Given the description of an element on the screen output the (x, y) to click on. 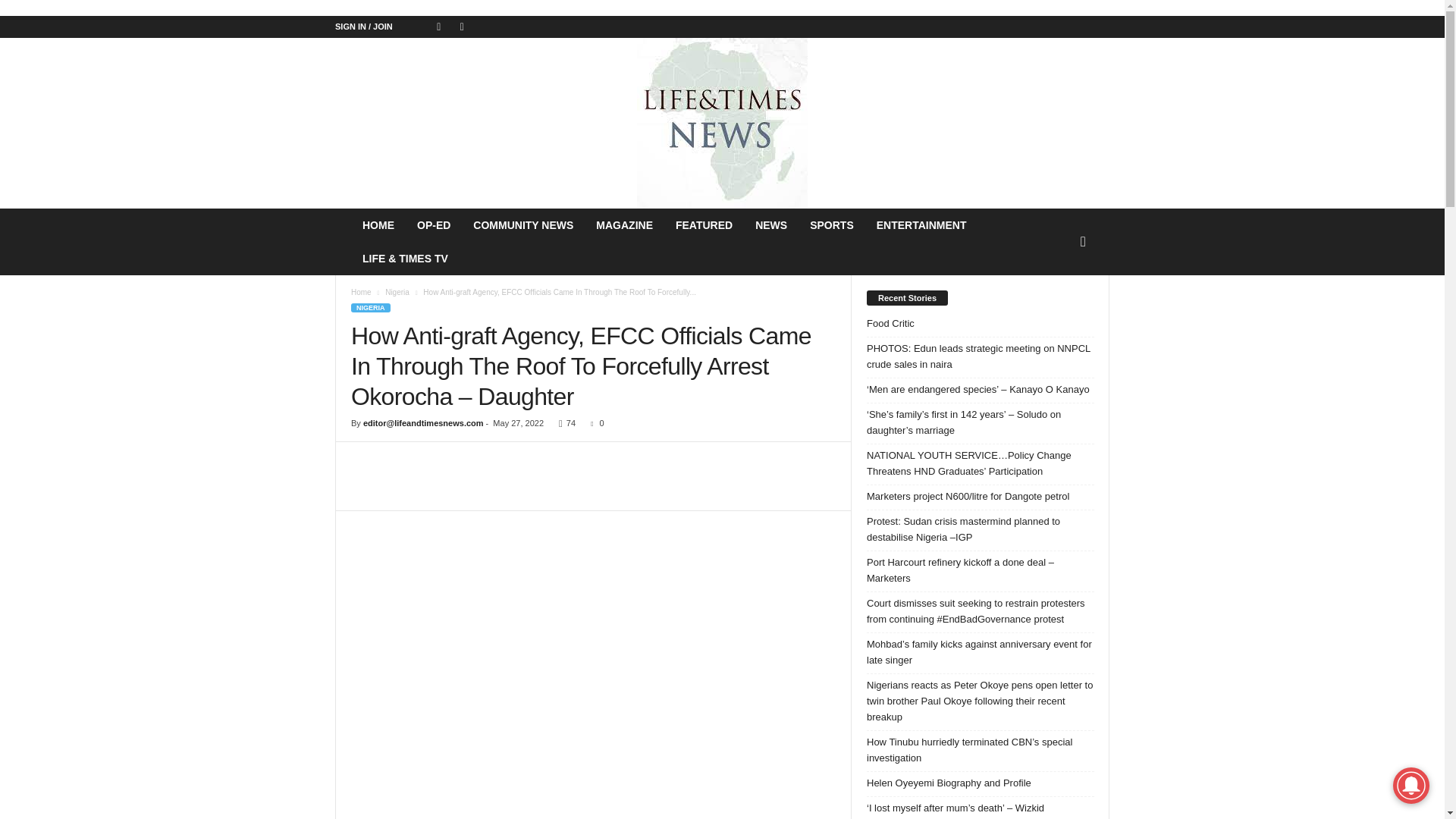
0 (594, 422)
Home (360, 292)
COMMUNITY NEWS (523, 224)
MAGAZINE (624, 224)
OP-ED (433, 224)
View all posts in Nigeria (397, 292)
NIGERIA (370, 307)
NEWS (770, 224)
SPORTS (830, 224)
ENTERTAINMENT (921, 224)
